Given the description of an element on the screen output the (x, y) to click on. 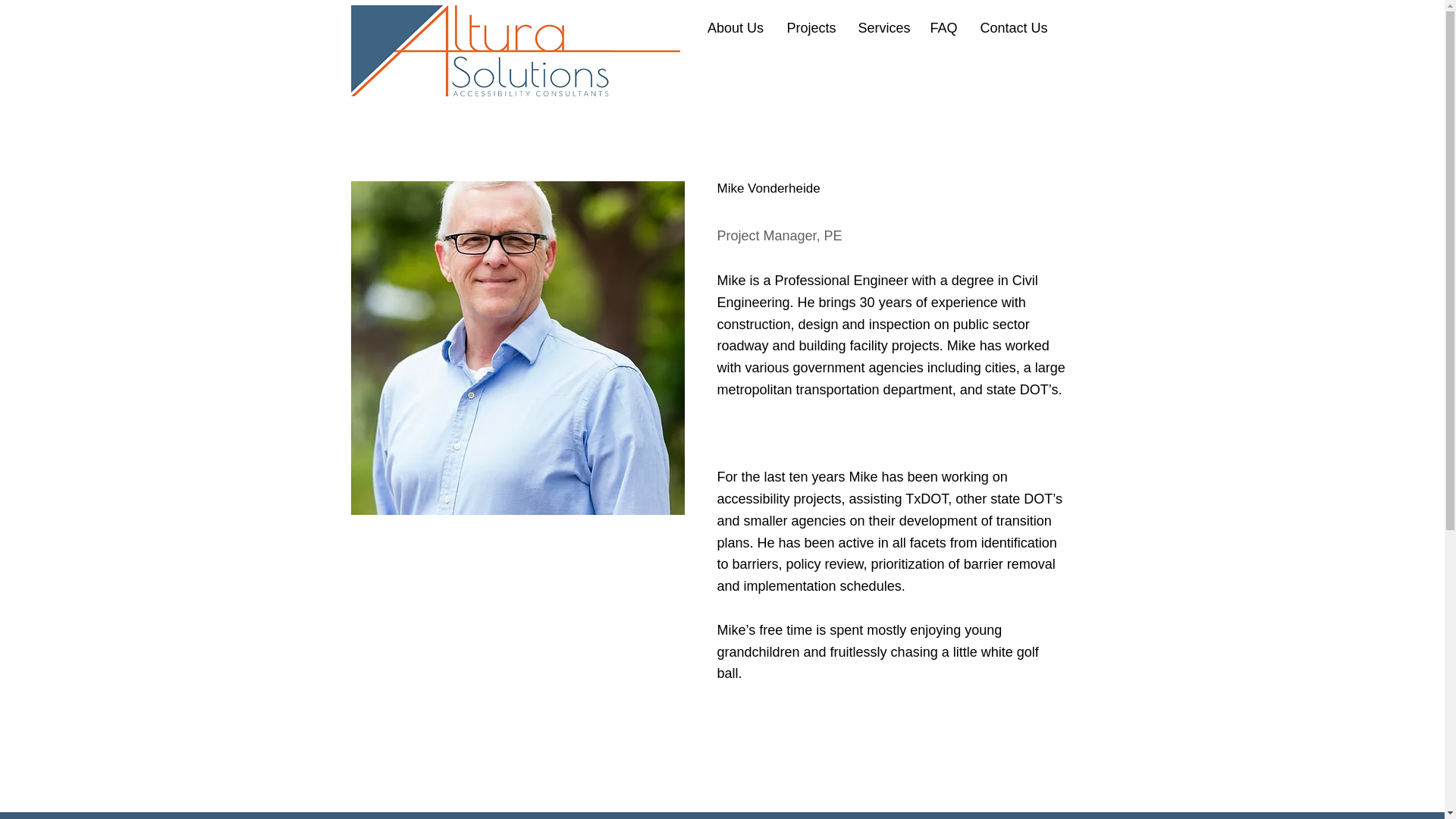
Altura Solutions (514, 49)
About Us (735, 27)
FAQ (943, 27)
Projects (809, 27)
Contact Us (1014, 27)
Services (881, 27)
